Given the description of an element on the screen output the (x, y) to click on. 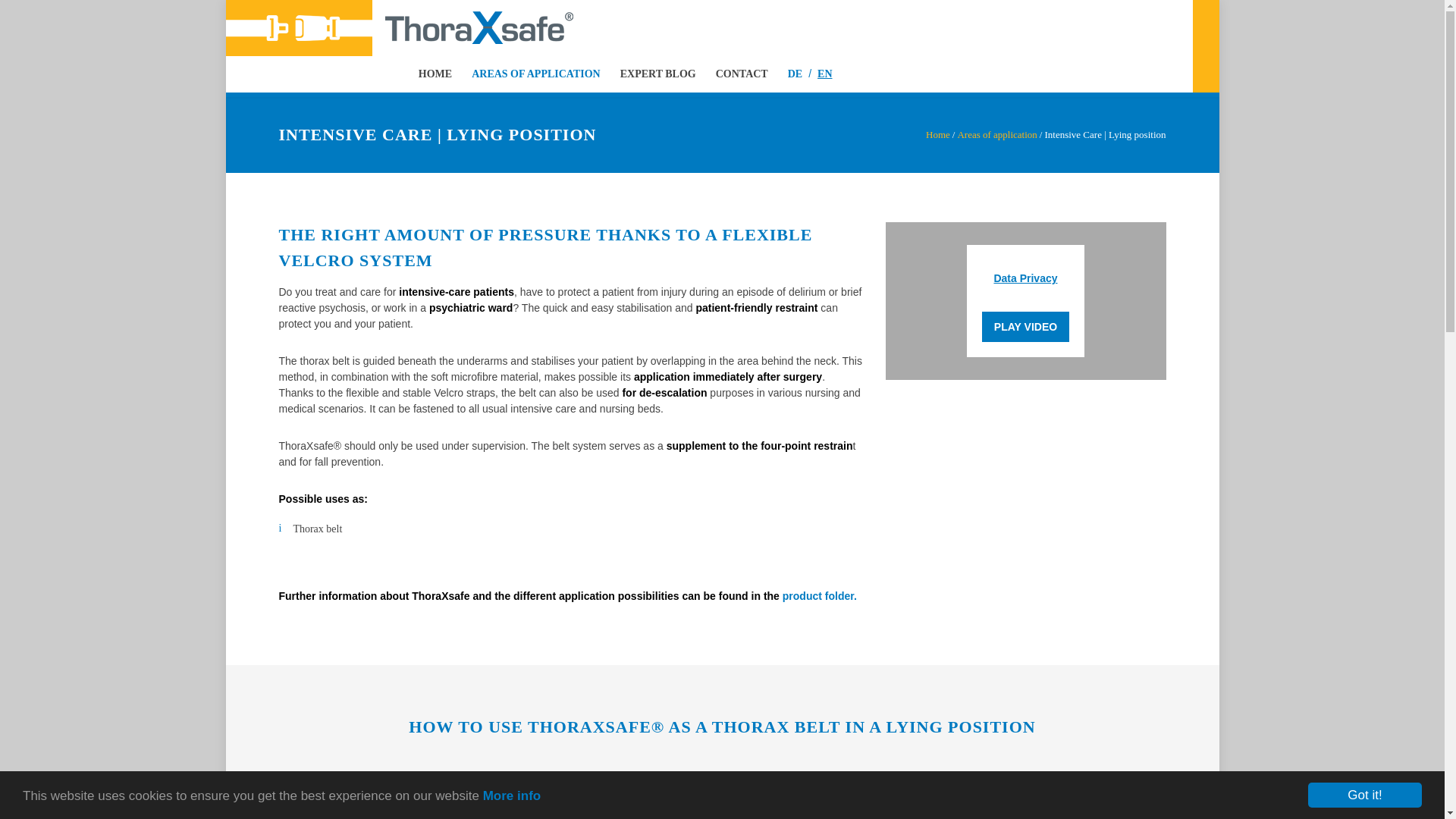
product folder. (820, 595)
EN (820, 74)
Areas of application (996, 134)
Data Privacy (1024, 277)
HOME (435, 74)
CONTACT (731, 74)
EXPERT BLOG (647, 74)
Home (938, 134)
PLAY VIDEO (1024, 327)
DE (785, 74)
PLAY VIDEO (1024, 327)
Product Folder Thoraxsafe (820, 595)
AREAS OF APPLICATION (525, 74)
Data Privacy (1024, 277)
